Given the description of an element on the screen output the (x, y) to click on. 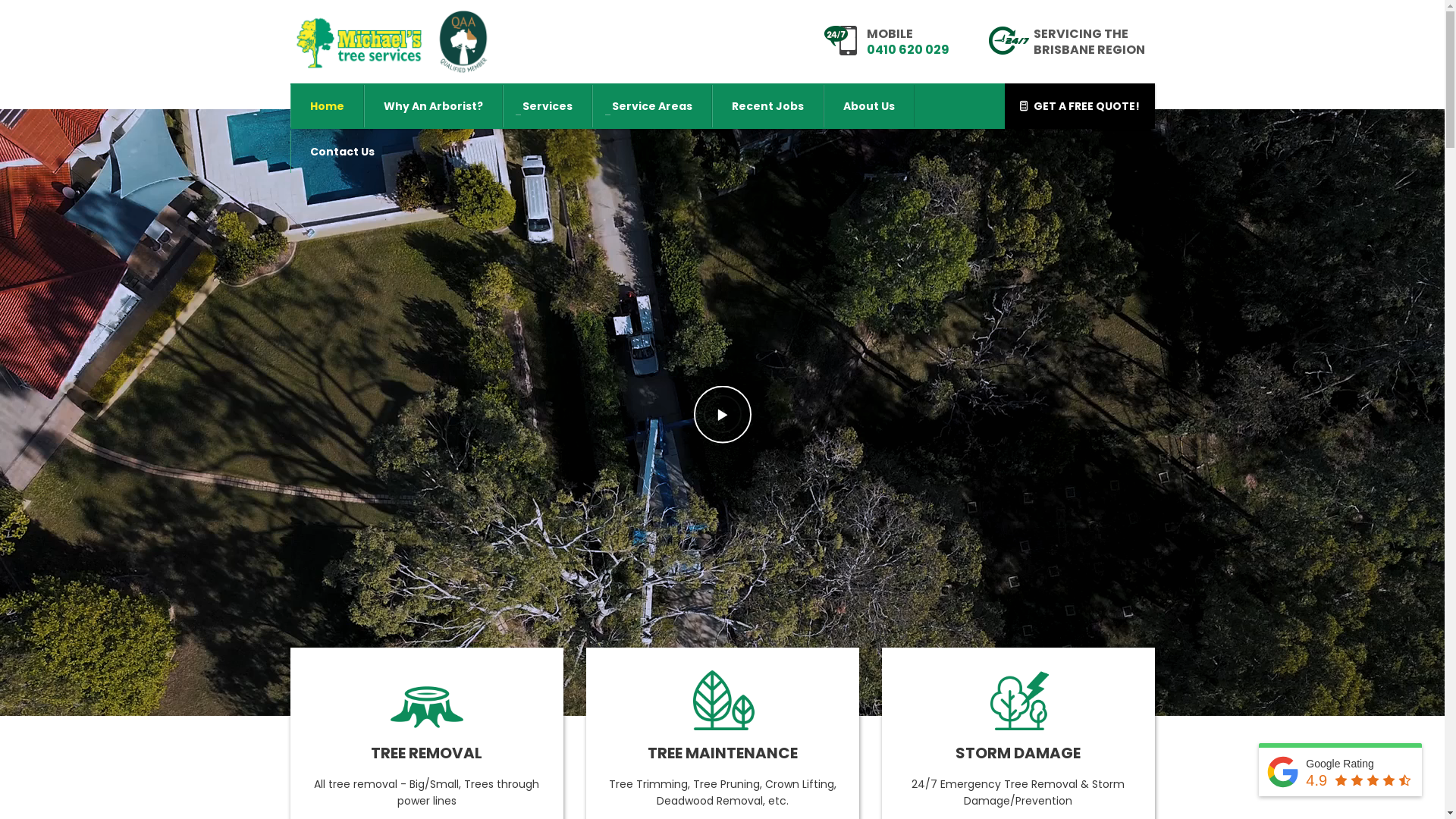
Contact Us Element type: text (341, 151)
Service Areas Element type: text (651, 105)
Tree lopping Brisbane Element type: hover (413, 41)
Recent Jobs Element type: text (766, 105)
Home Element type: text (326, 105)
About Us Element type: text (868, 105)
Services Element type: text (546, 105)
GET A FREE QUOTE! Element type: text (1079, 105)
0410 620 029 Element type: text (903, 49)
Why An Arborist? Element type: text (433, 105)
